Given the description of an element on the screen output the (x, y) to click on. 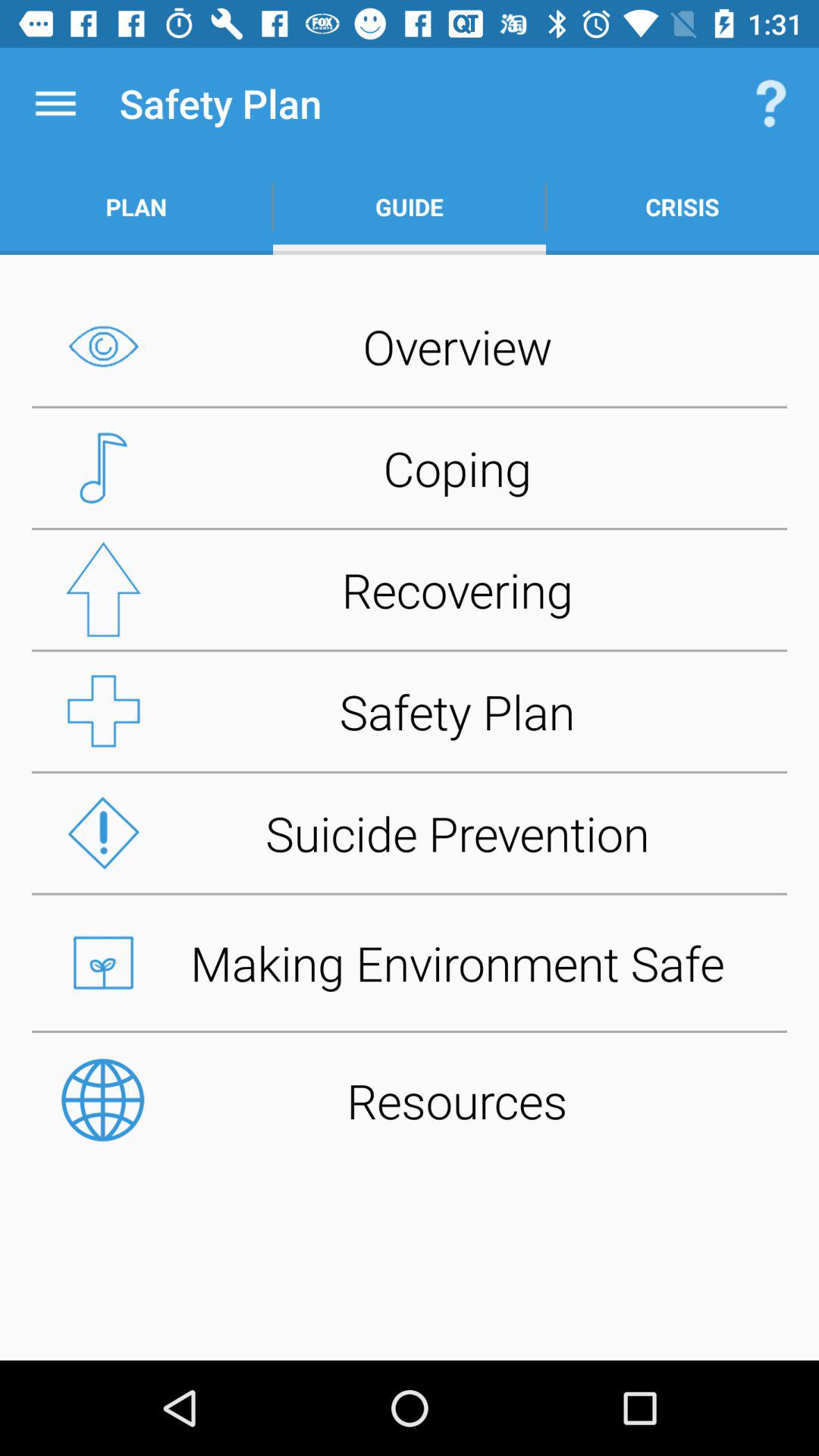
turn on icon to the right of guide item (771, 103)
